Given the description of an element on the screen output the (x, y) to click on. 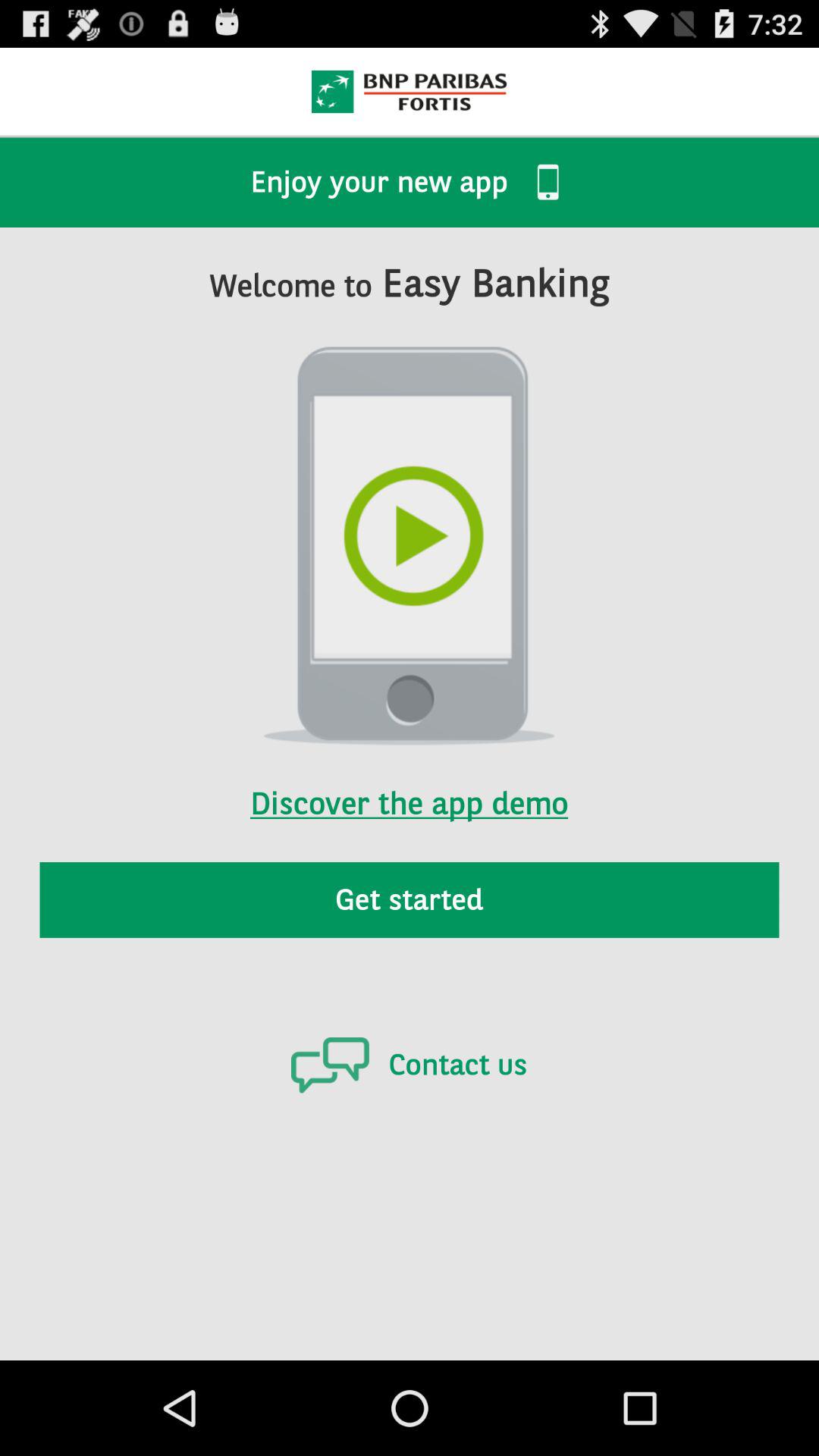
press the item below the discover the app icon (409, 899)
